Given the description of an element on the screen output the (x, y) to click on. 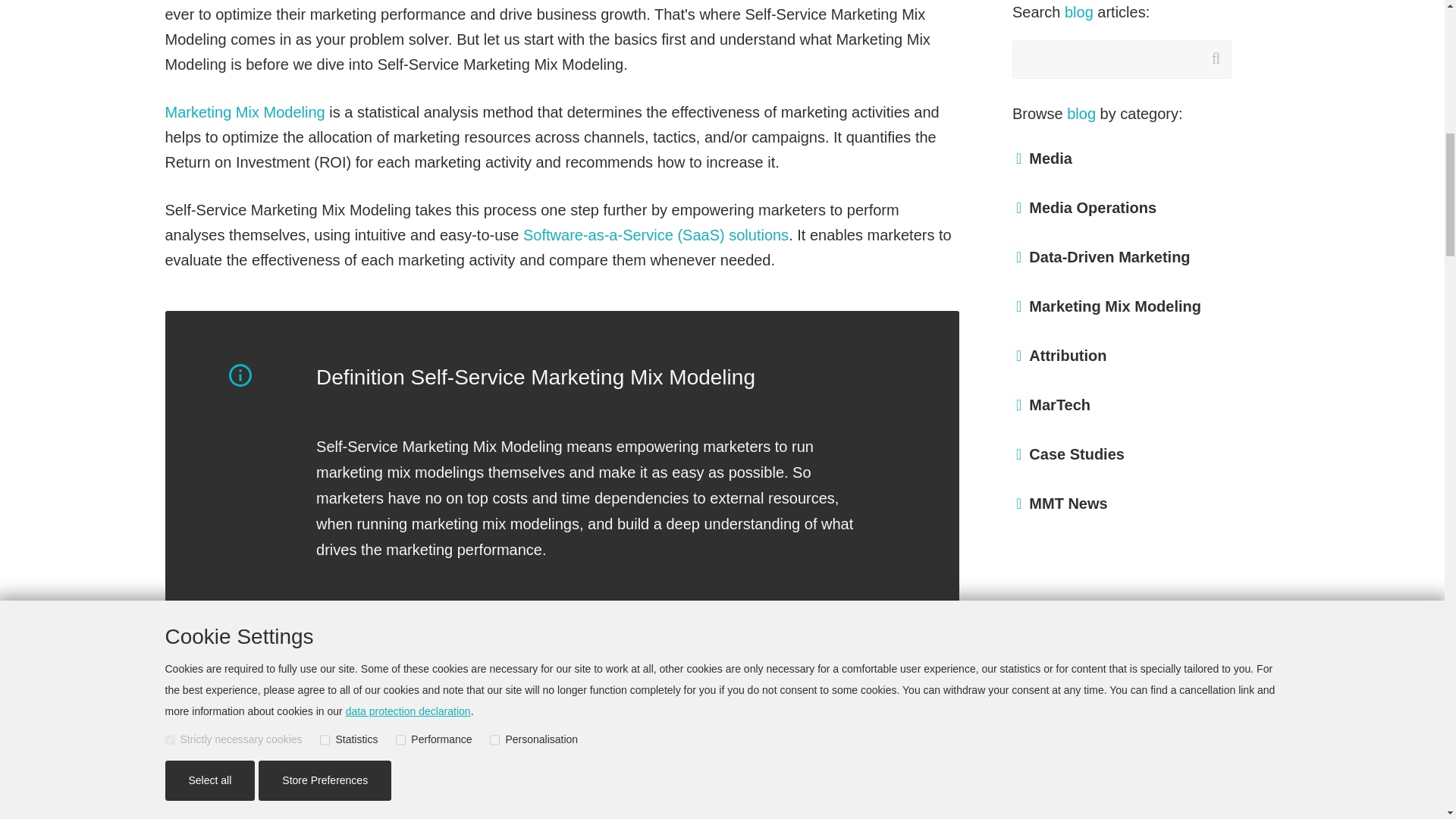
What are the key benefits of Self-Service MMM? (365, 802)
Marketing Mix Modeling (244, 112)
